Given the description of an element on the screen output the (x, y) to click on. 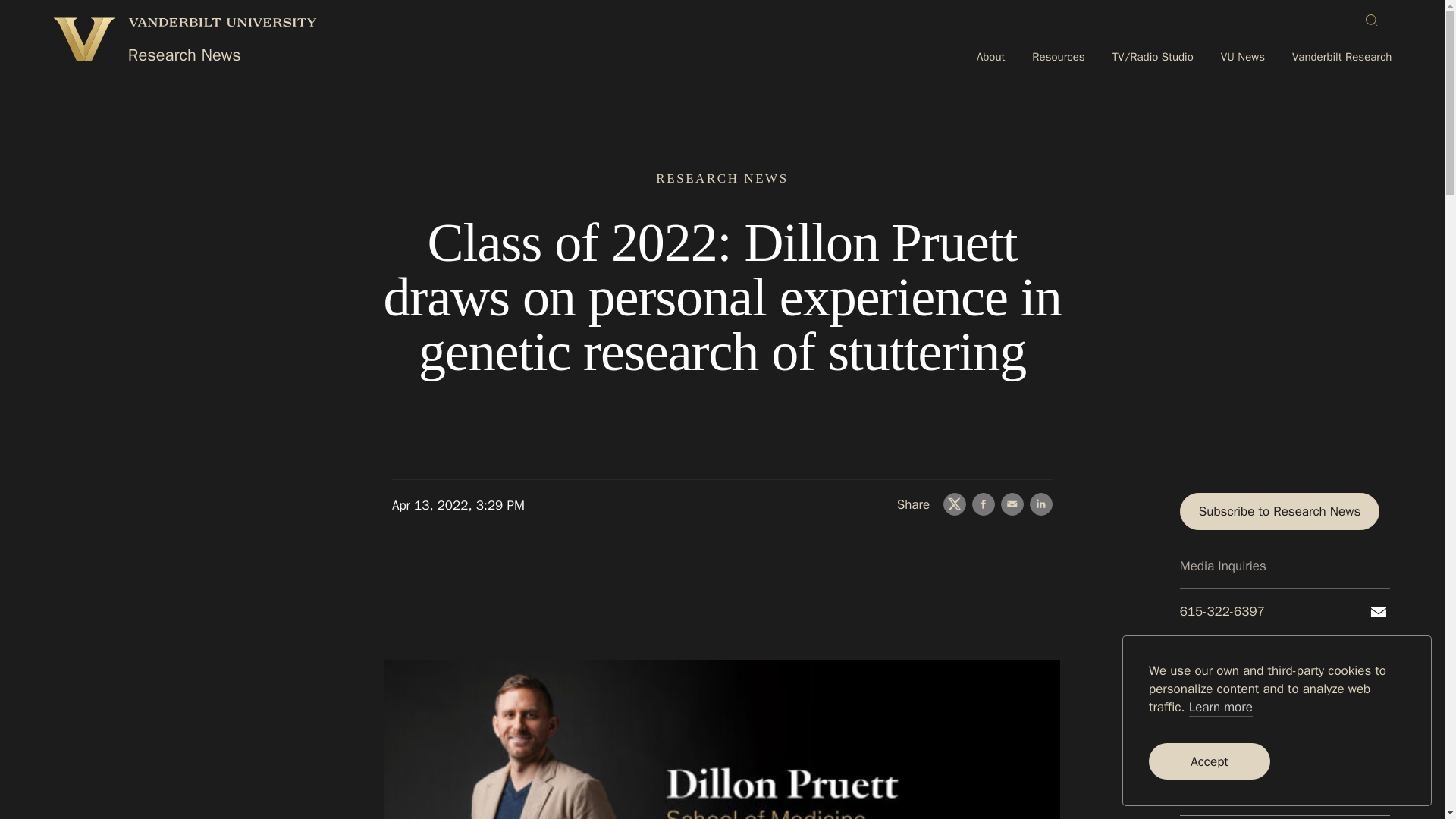
Subscribe to Research News (1279, 511)
Email (1378, 611)
Resources (1058, 57)
Vanderbilt University (222, 21)
Accept (1208, 760)
Vanderbilt University (83, 39)
Twitter (954, 504)
Facebook (983, 504)
Email (1012, 504)
LinkedIn (1040, 504)
